Given the description of an element on the screen output the (x, y) to click on. 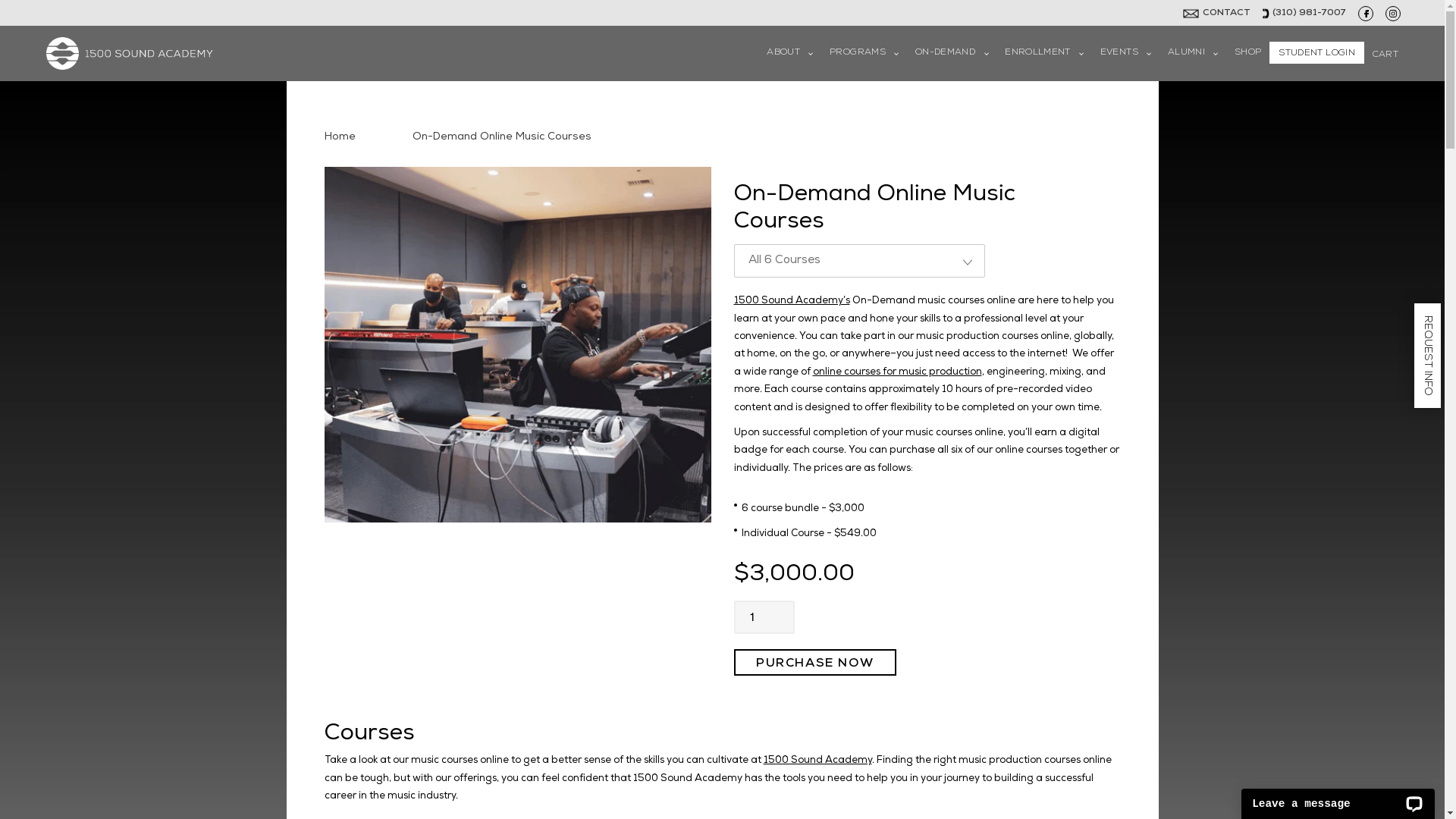
online courses for music production Element type: text (897, 372)
Facebook Element type: text (1365, 13)
Instagram Element type: text (1392, 13)
Home Element type: text (339, 137)
SHOP Element type: text (1247, 52)
PROGRAMS Element type: text (863, 52)
CONTACT Element type: text (1226, 13)
PURCHASE NOW Element type: text (815, 662)
On-Demand Online Music Courses Element type: text (501, 137)
SUBMIT Element type: text (722, 446)
CART
Cart Element type: text (1385, 52)
ABOUT Element type: text (789, 52)
ALUMNI Element type: text (1192, 52)
STUDENT LOGIN Element type: text (1316, 52)
EVENTS Element type: text (1125, 52)
(310) 981-7007 Element type: text (1309, 13)
ON-DEMAND Element type: text (951, 52)
ENROLLMENT Element type: text (1044, 52)
1500 Sound Academy Element type: text (816, 760)
